Given the description of an element on the screen output the (x, y) to click on. 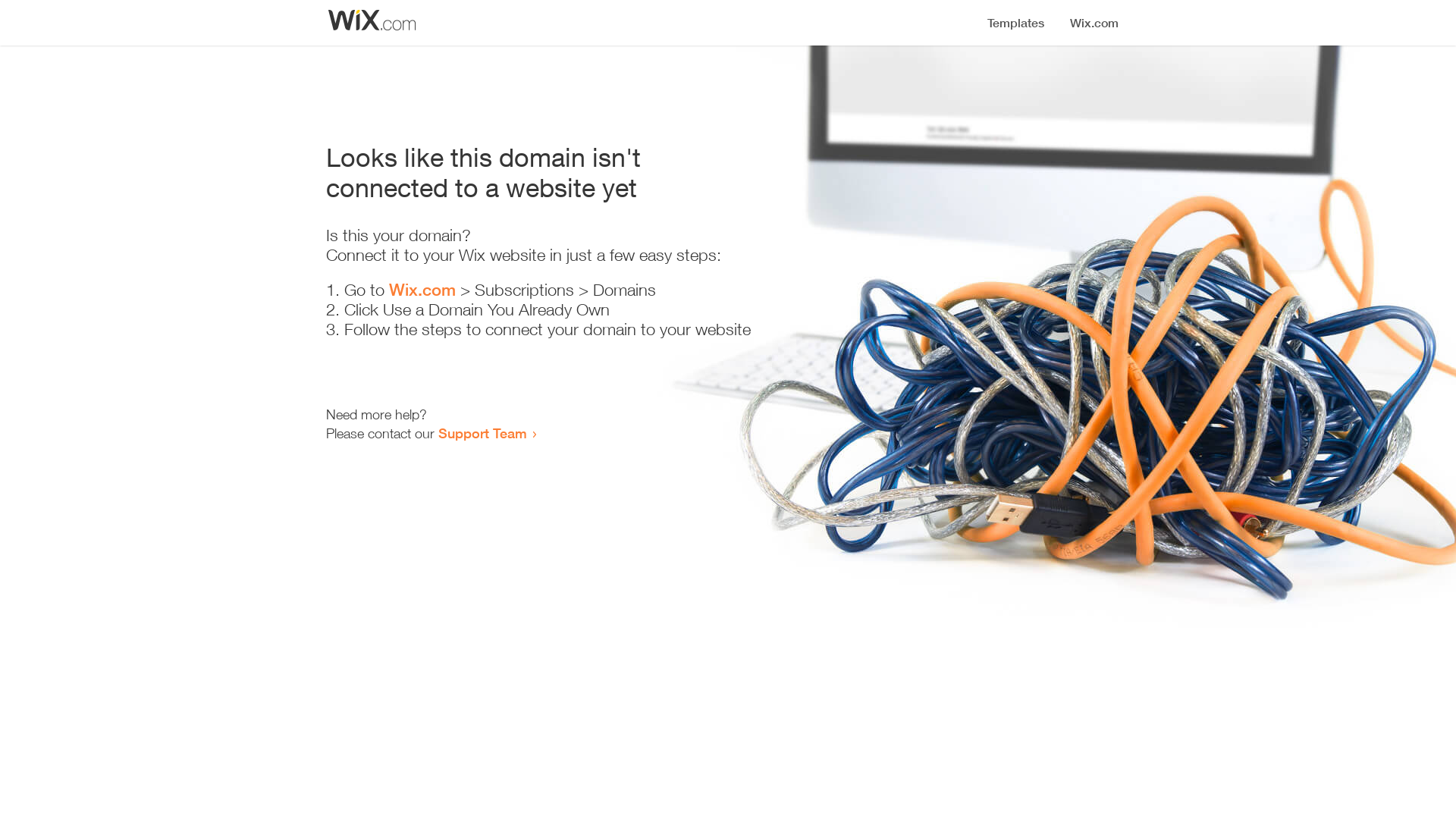
Support Team Element type: text (482, 432)
Wix.com Element type: text (422, 289)
